Given the description of an element on the screen output the (x, y) to click on. 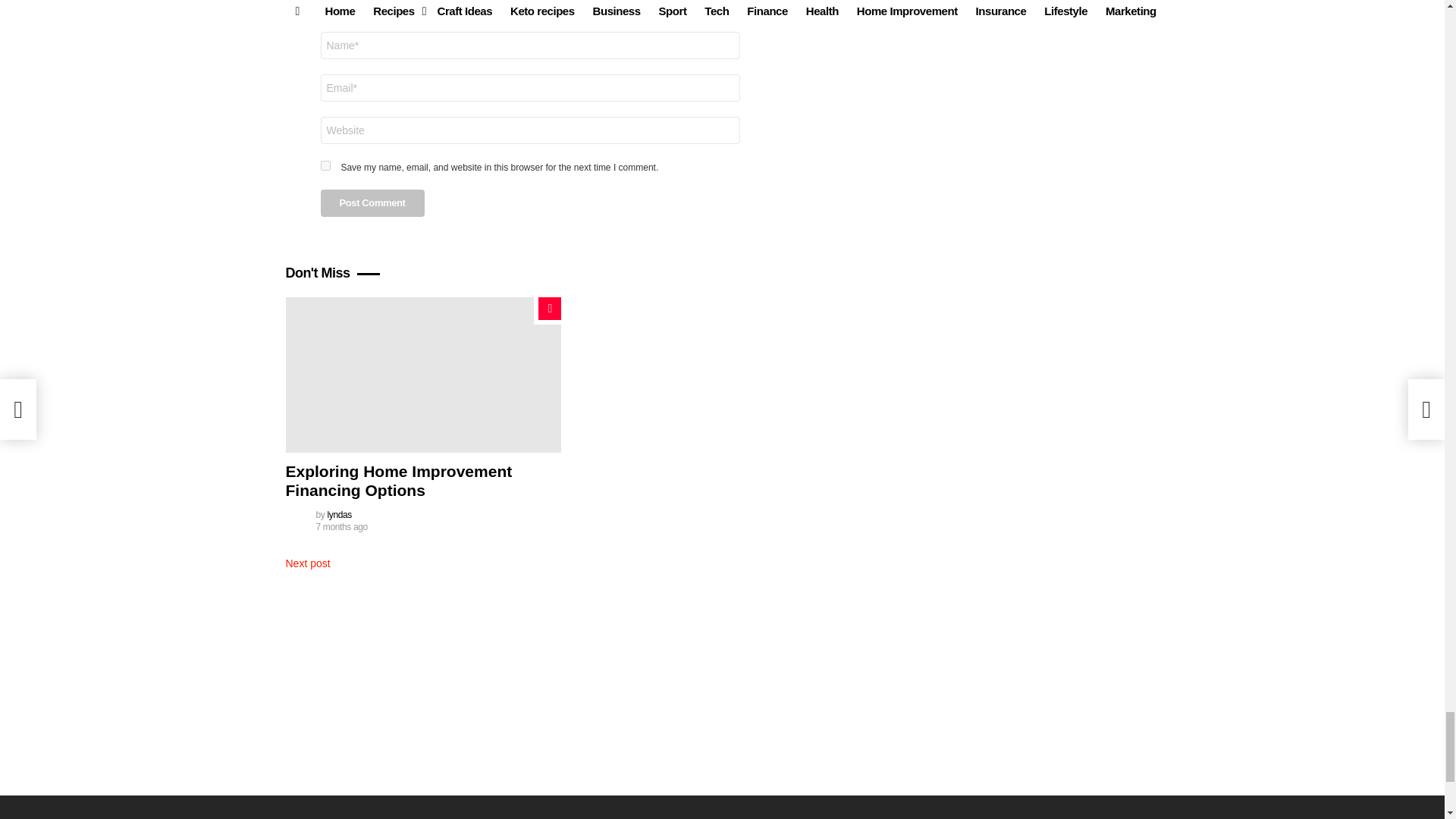
Post Comment (371, 203)
yes (325, 165)
